Given the description of an element on the screen output the (x, y) to click on. 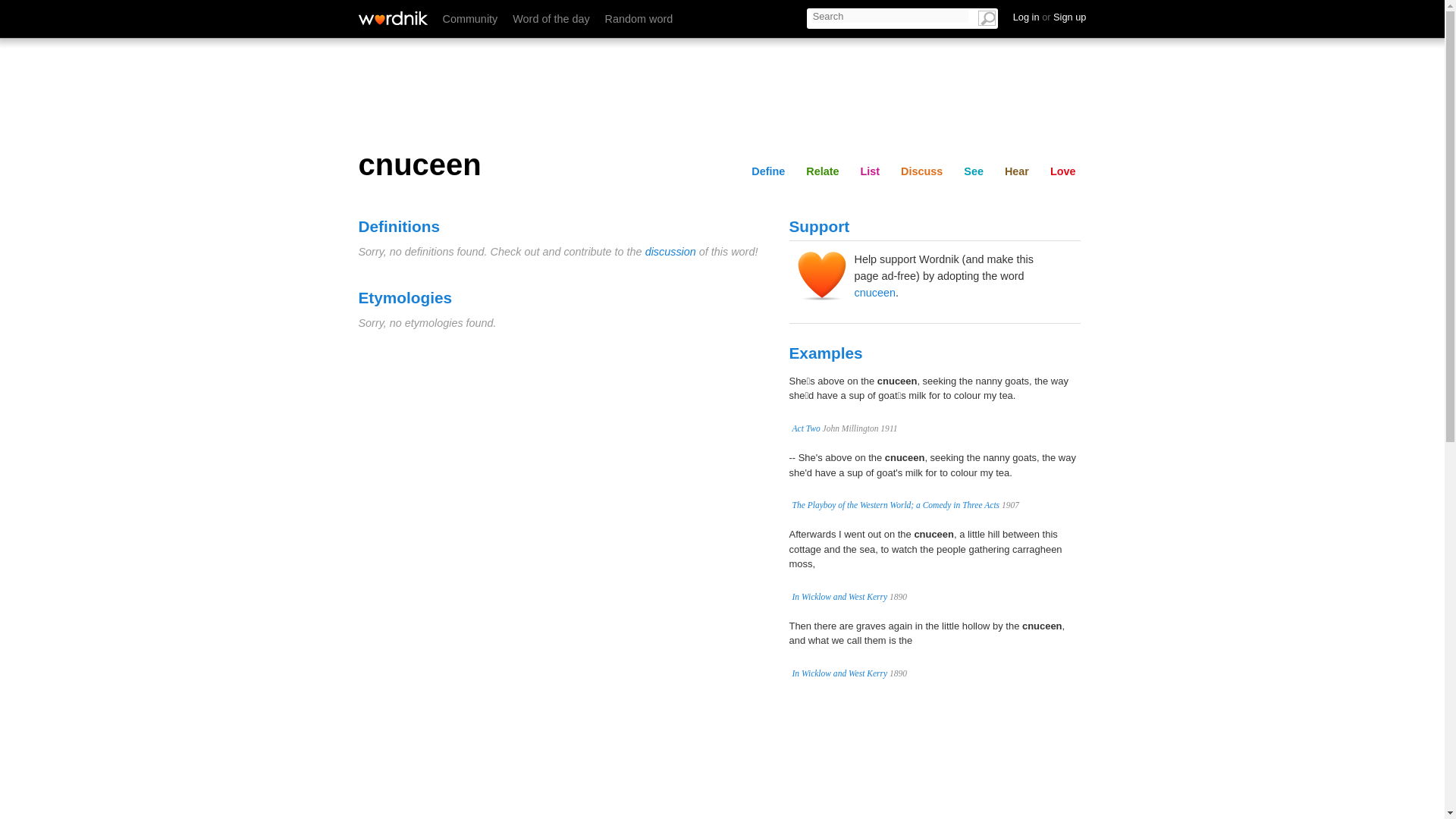
3rd party ad content (934, 763)
See (1016, 16)
The Playboy of the Western World; a Comedy in Three Acts (895, 504)
Relate (821, 171)
Define (798, 16)
cnuceen (874, 292)
Community (469, 19)
Random word (638, 19)
Act Two (805, 428)
In Wicklow and West Kerry (839, 673)
discussion (670, 251)
cnuceen (722, 164)
Relate (854, 16)
Community (469, 19)
Define (767, 171)
